Given the description of an element on the screen output the (x, y) to click on. 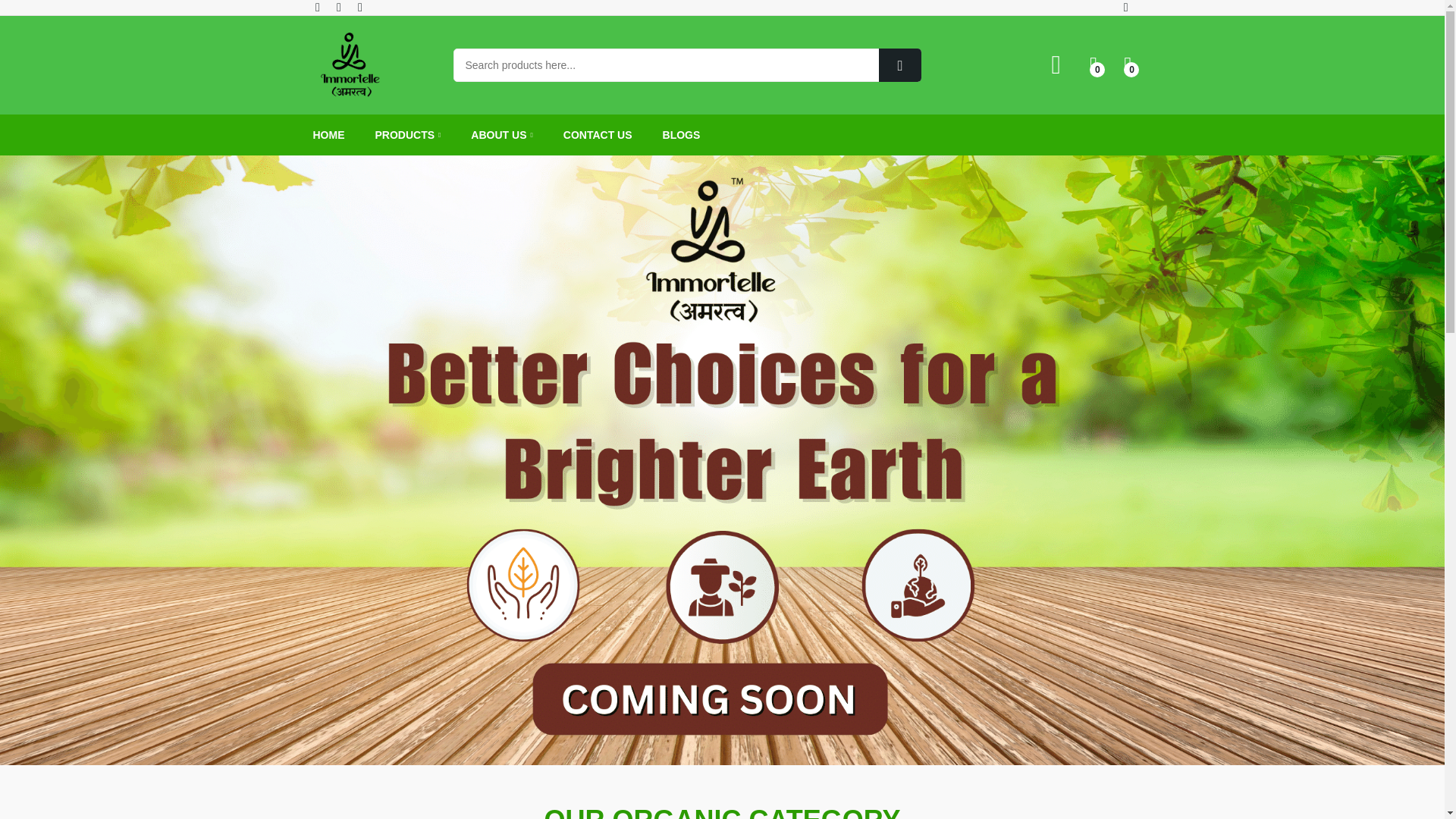
ABOUT US (501, 134)
0 (1093, 65)
facebook (319, 7)
HOME (328, 134)
0 (1127, 65)
pinterest (340, 7)
BLOGS (681, 134)
instagram (361, 7)
PRODUCTS (407, 134)
CONTACT US (597, 134)
Store Locator (1128, 7)
